Given the description of an element on the screen output the (x, y) to click on. 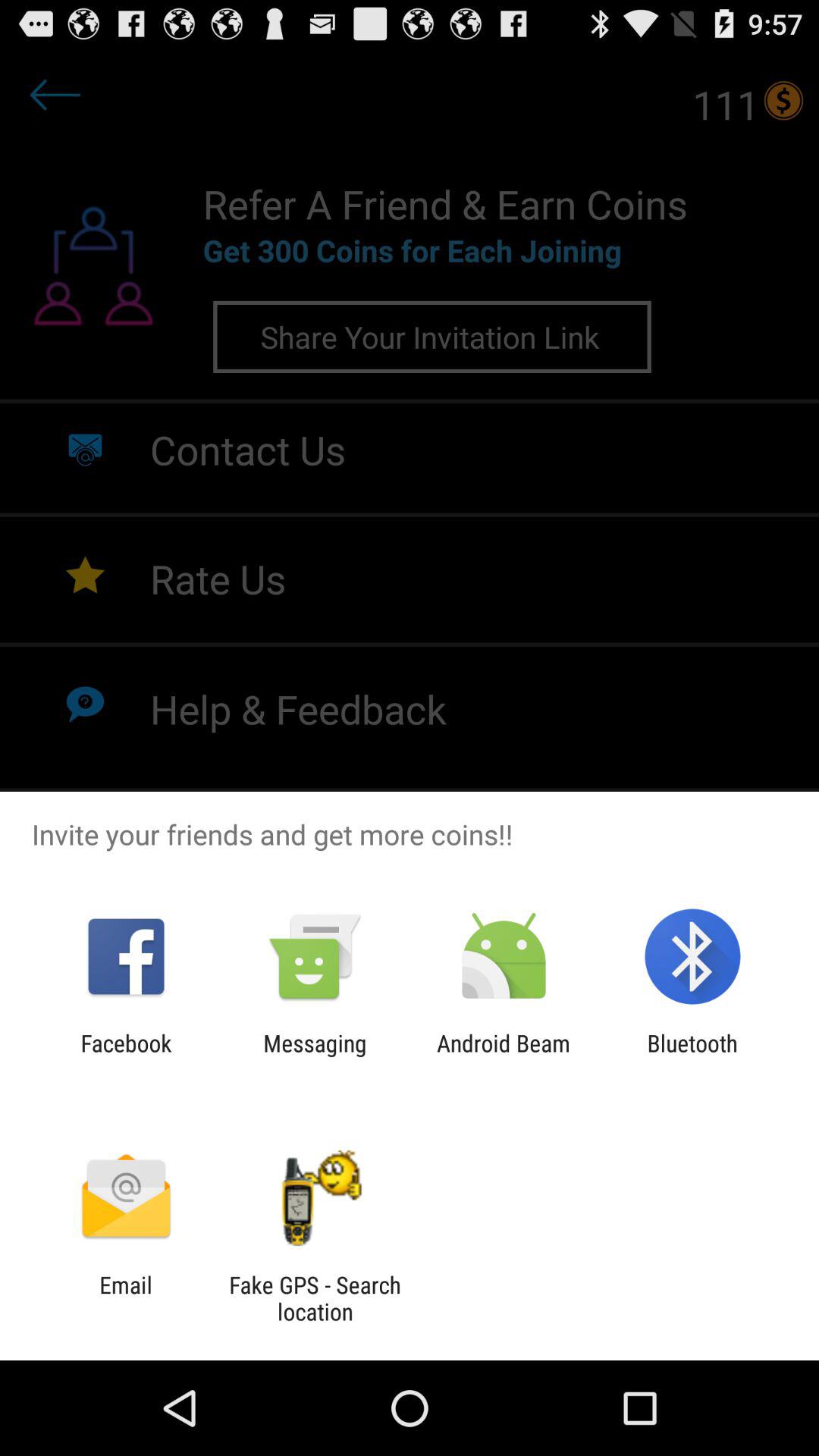
tap item to the right of messaging (503, 1056)
